Given the description of an element on the screen output the (x, y) to click on. 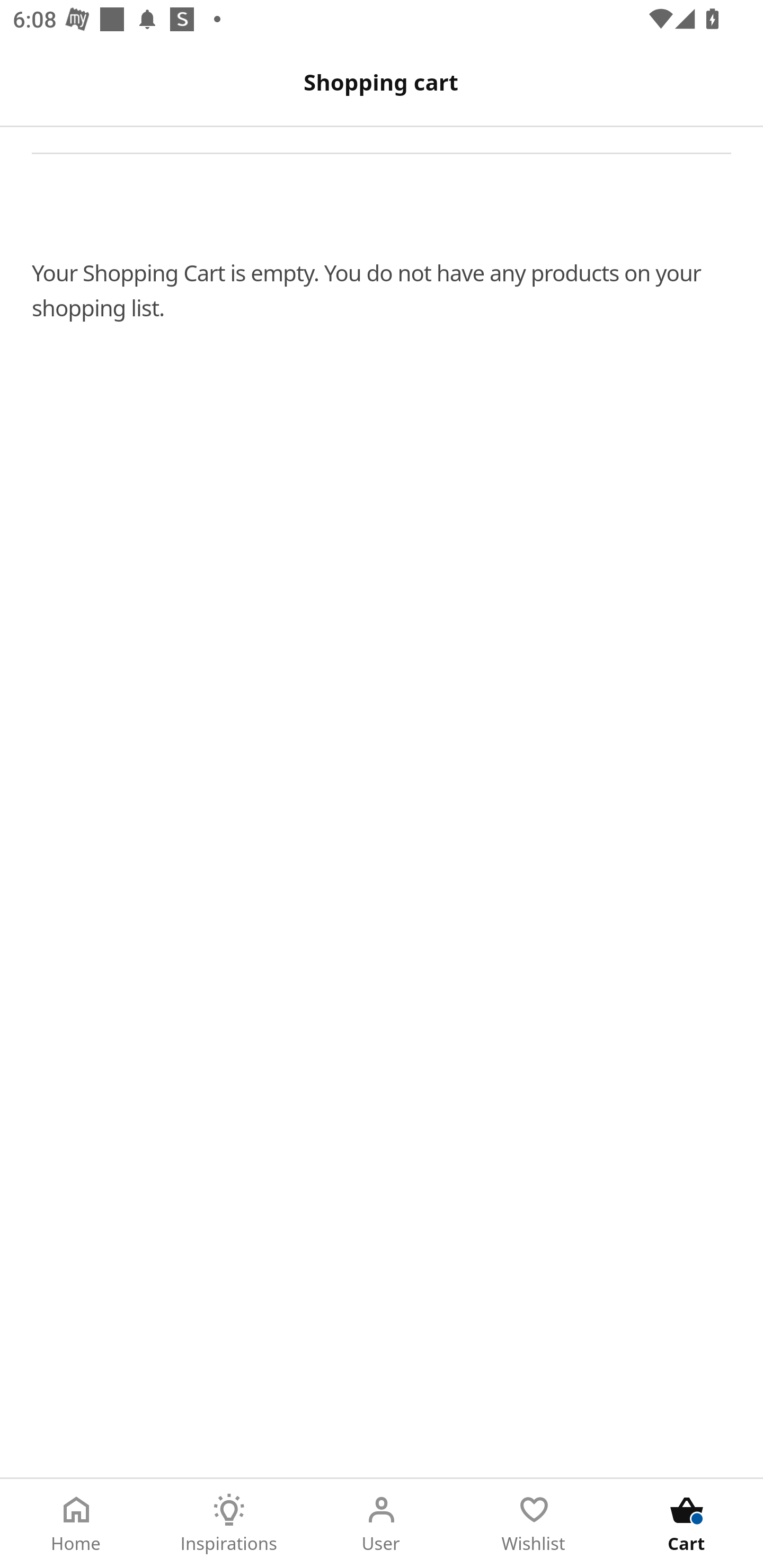
Home
Tab 1 of 5 (76, 1522)
Inspirations
Tab 2 of 5 (228, 1522)
User
Tab 3 of 5 (381, 1522)
Wishlist
Tab 4 of 5 (533, 1522)
Cart
Tab 5 of 5 (686, 1522)
